Given the description of an element on the screen output the (x, y) to click on. 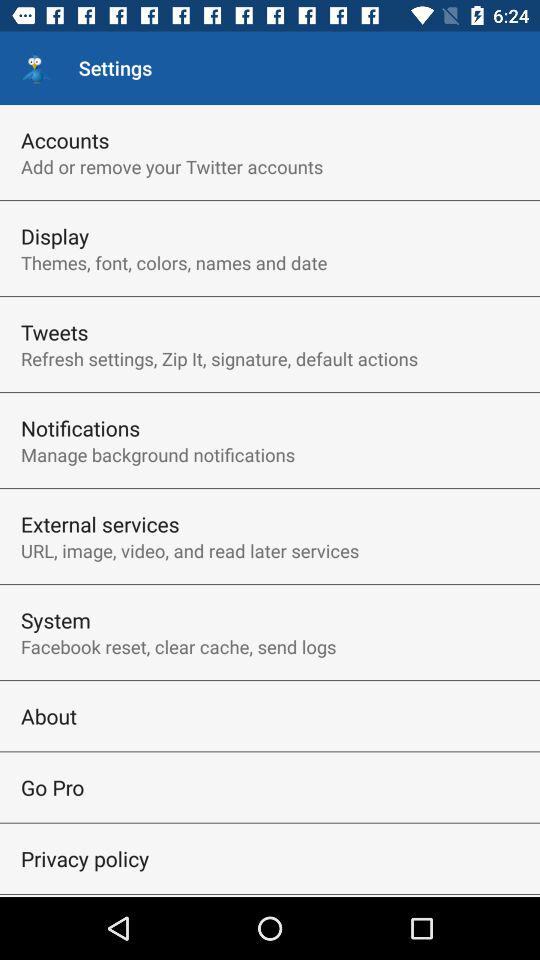
flip until go pro (52, 787)
